Given the description of an element on the screen output the (x, y) to click on. 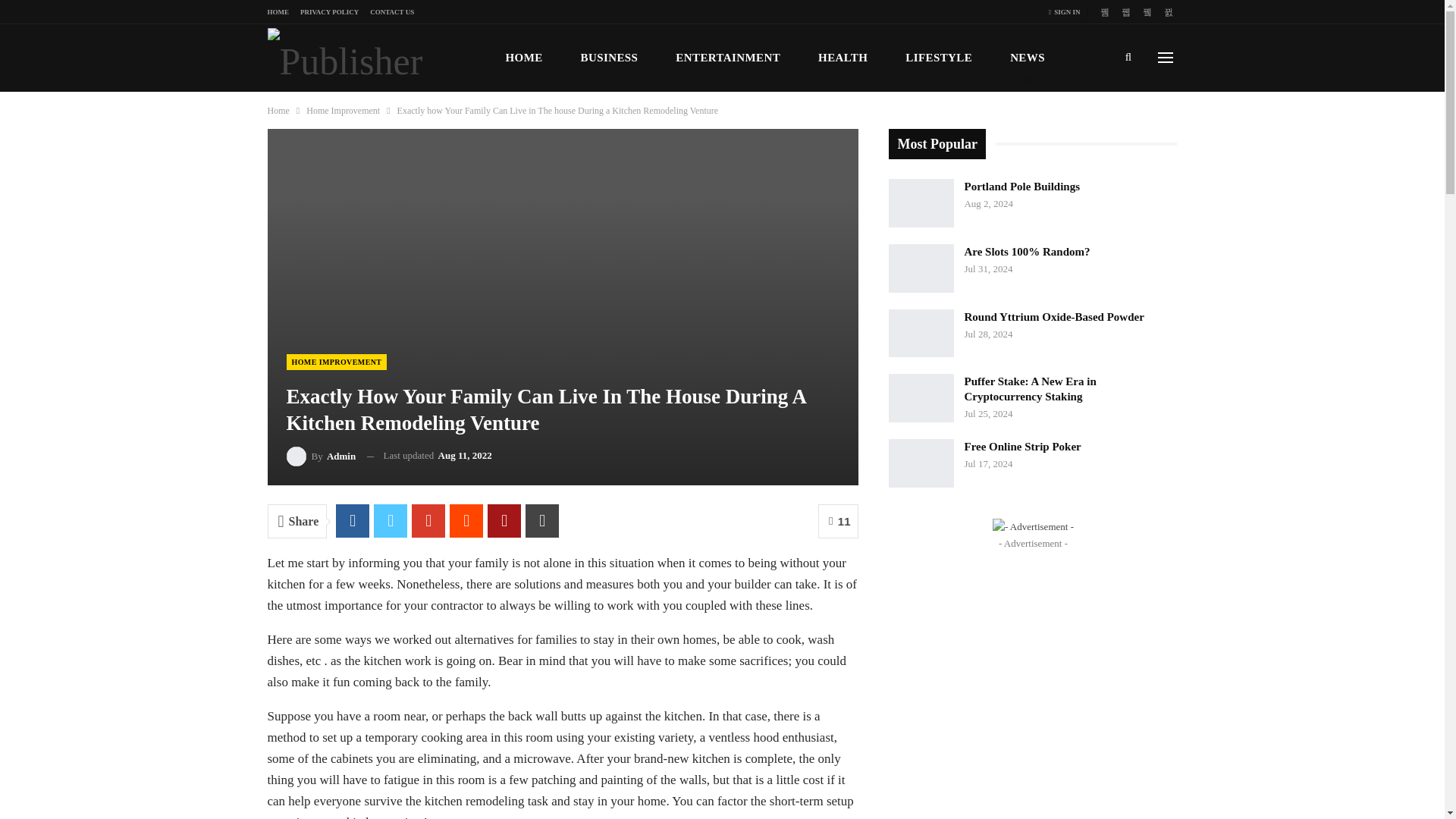
ENTERTAINMENT (727, 57)
PRIVACY POLICY (328, 11)
HOME (277, 11)
LIFESTYLE (937, 57)
BUSINESS (609, 57)
Browse Author Articles (321, 455)
NEWS (1026, 57)
HEALTH (842, 57)
Portland Pole Buildings (920, 203)
HOME (524, 57)
CONTACT US (391, 11)
SIGN IN (1067, 12)
